Given the description of an element on the screen output the (x, y) to click on. 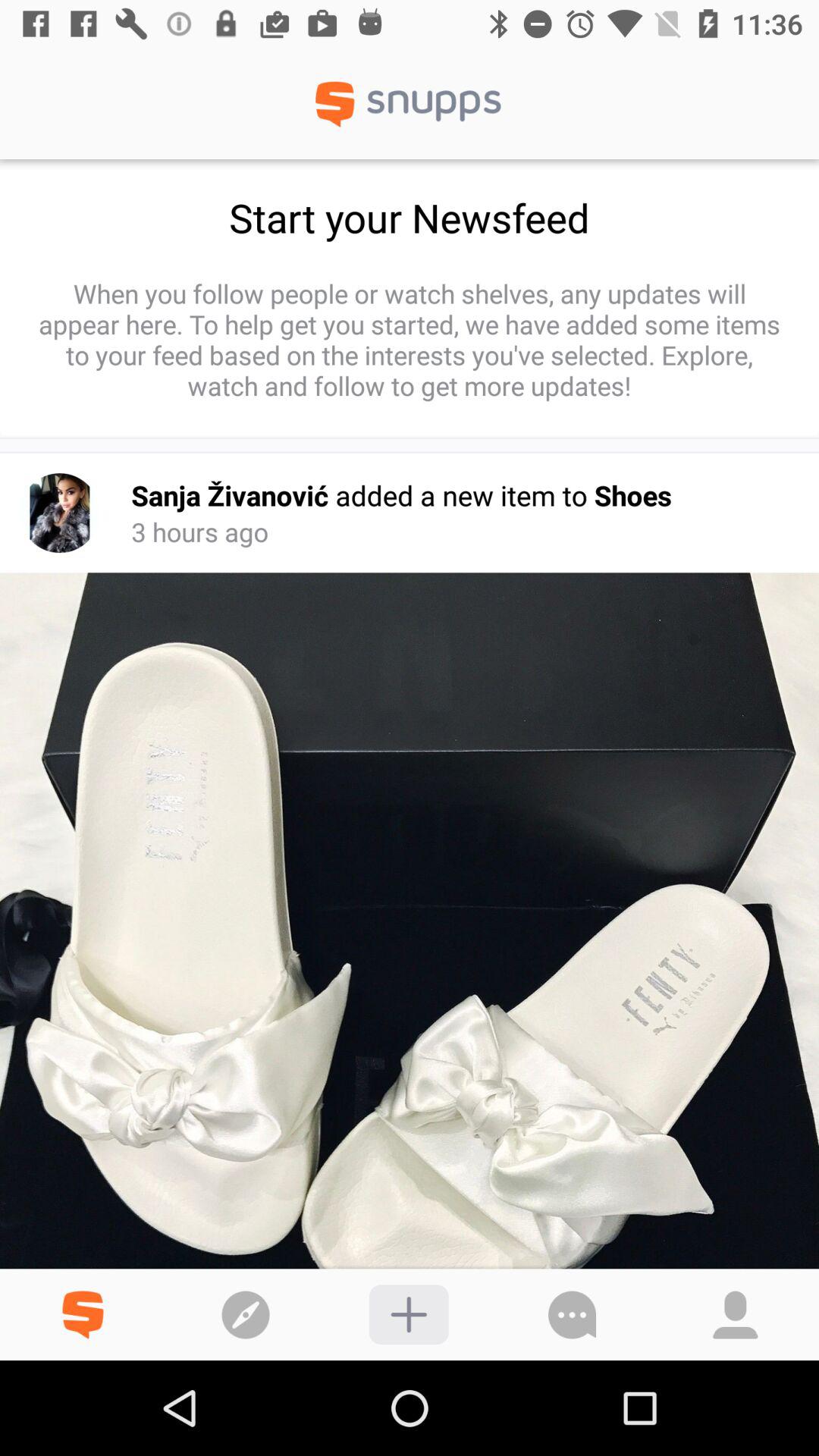
add to collection (408, 1314)
